Given the description of an element on the screen output the (x, y) to click on. 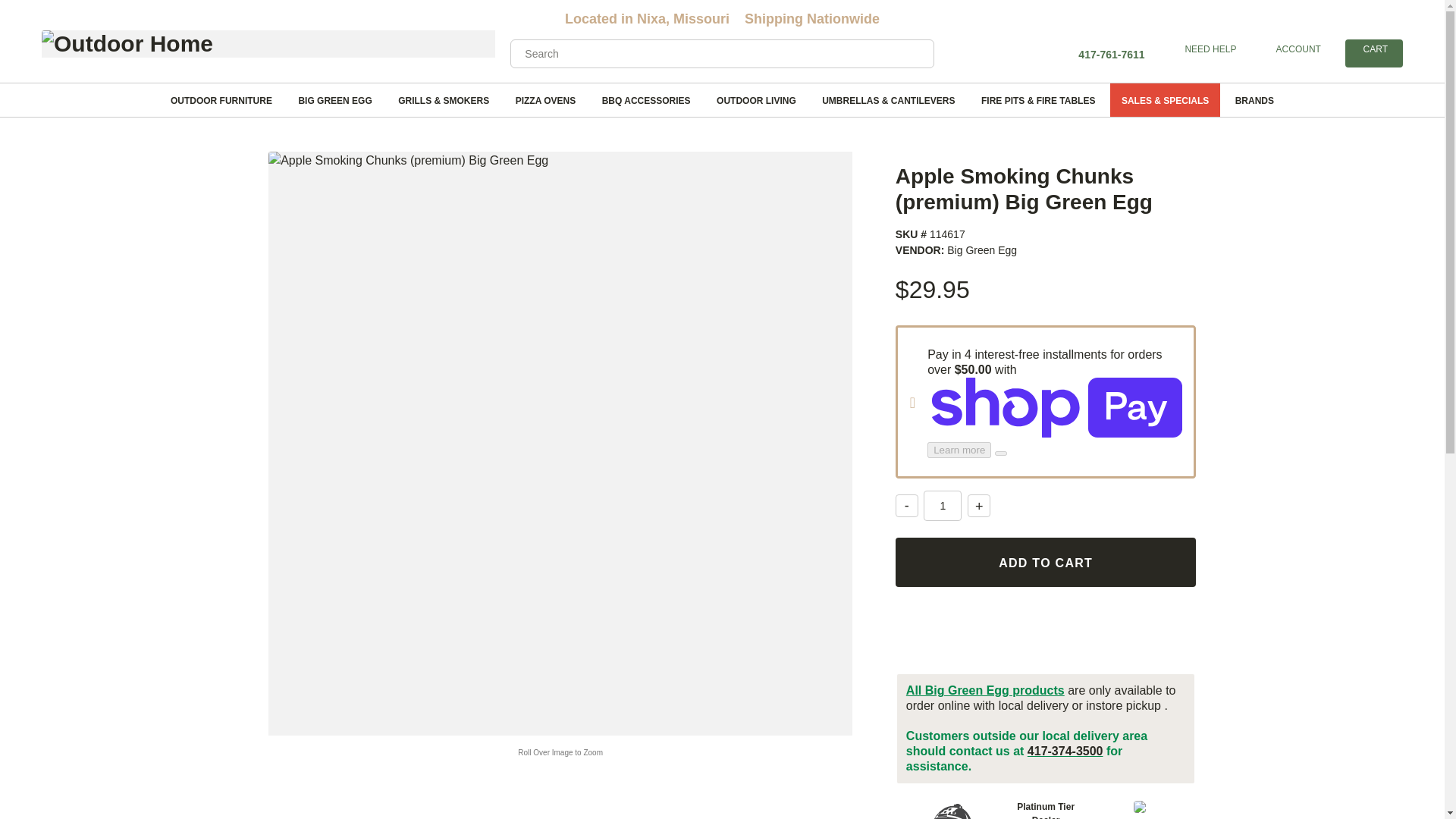
1 (941, 505)
 NEED HELP (1373, 49)
 417-761-7611 (1208, 49)
